Given the description of an element on the screen output the (x, y) to click on. 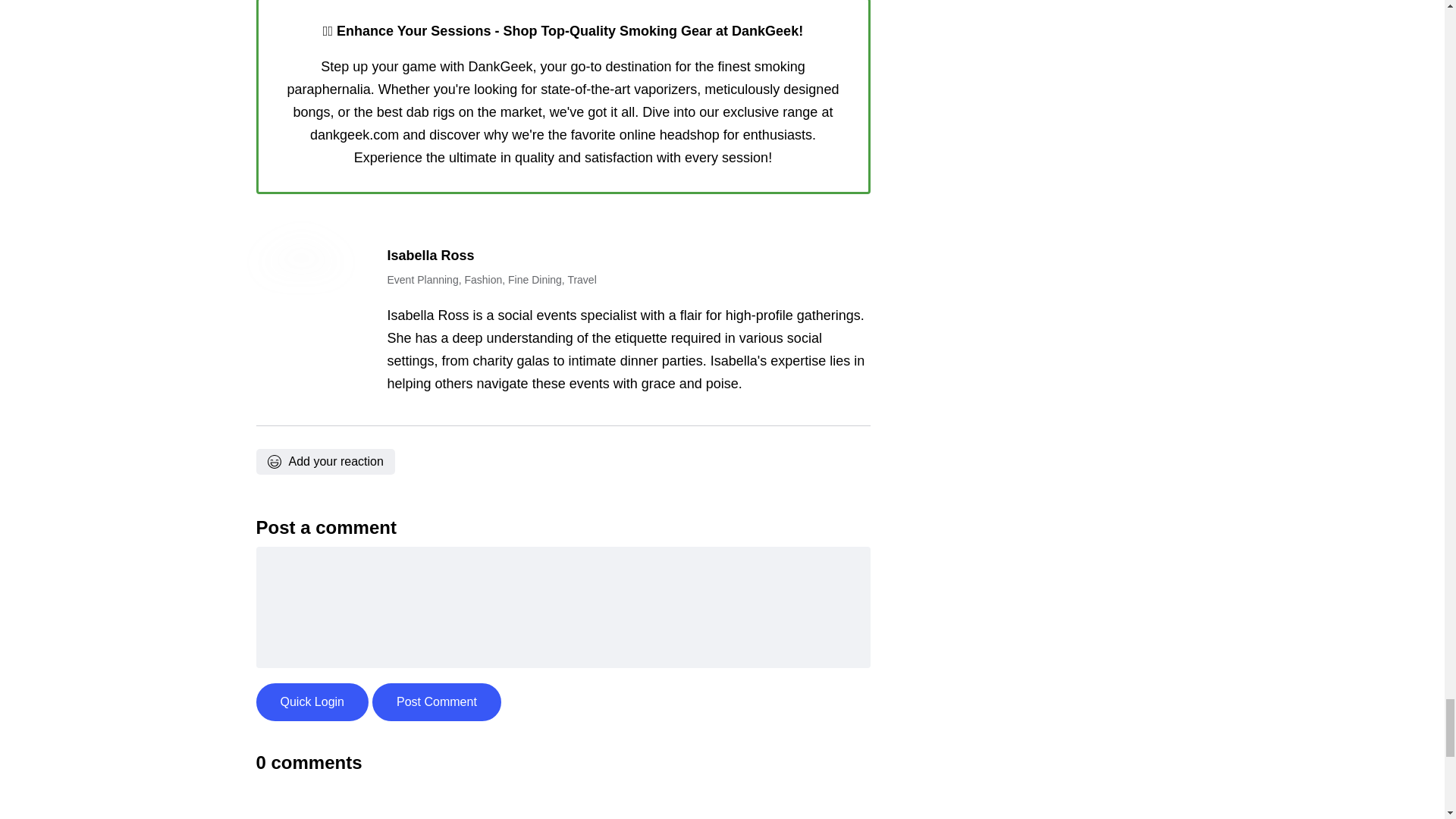
DankGeek - Online Headshop (562, 93)
